Given the description of an element on the screen output the (x, y) to click on. 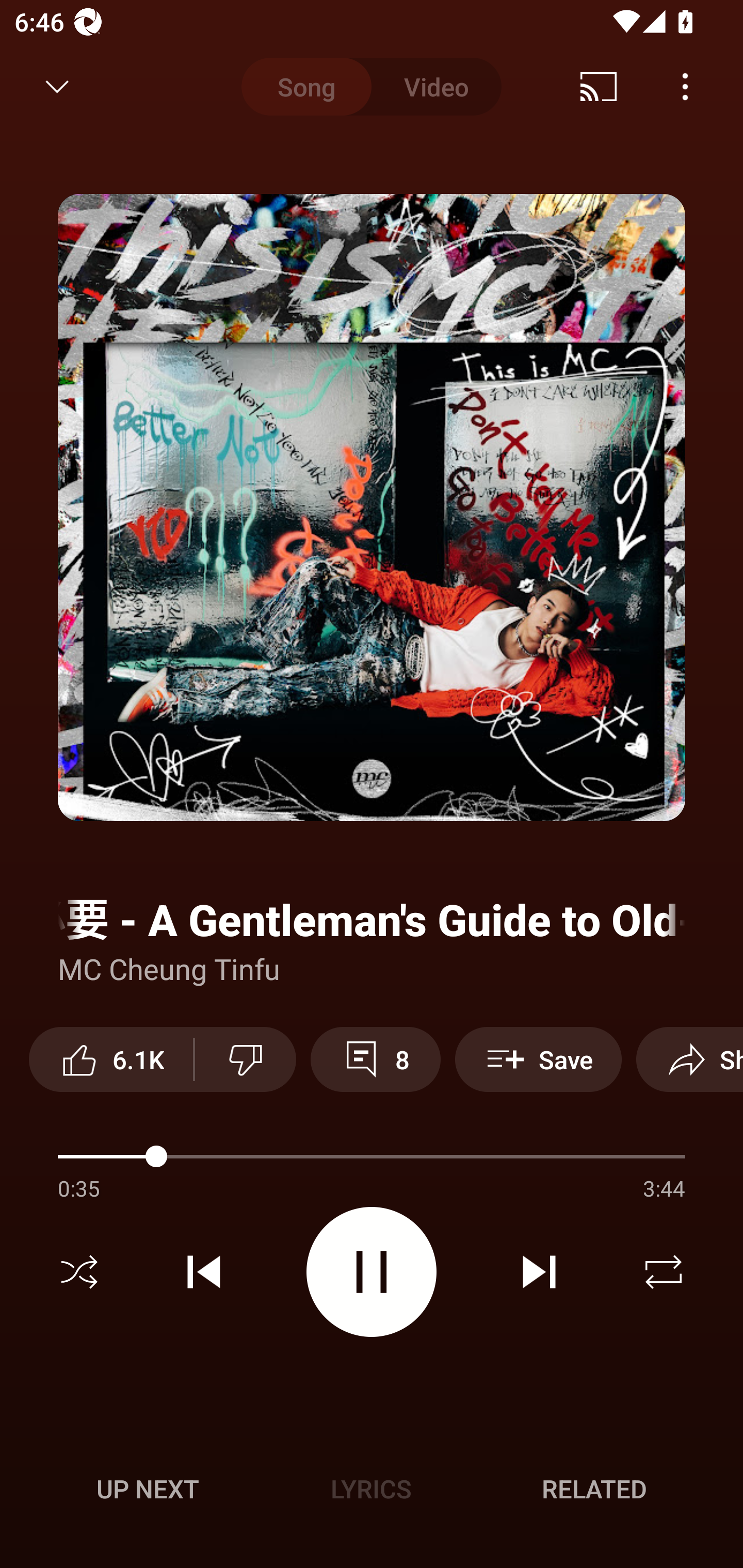
Minimize (57, 86)
Cast. Disconnected (598, 86)
Menu (684, 86)
6.1K like this video along with 6,122 other people (110, 1059)
Dislike (245, 1059)
8 View 8 comments (375, 1059)
Save Save to playlist (537, 1059)
Share (689, 1059)
Pause video (371, 1272)
Shuffle off (79, 1272)
Previous track (203, 1272)
Next track (538, 1272)
Repeat off (663, 1272)
Up next UP NEXT Lyrics LYRICS Related RELATED (371, 1491)
Lyrics LYRICS (370, 1488)
Related RELATED (594, 1488)
